Given the description of an element on the screen output the (x, y) to click on. 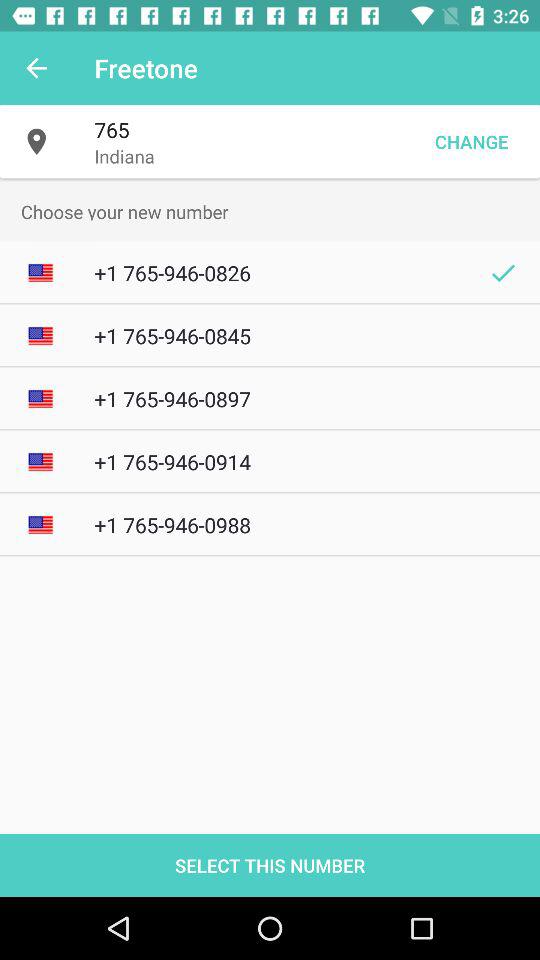
click the icon to the right of the indiana item (471, 141)
